Given the description of an element on the screen output the (x, y) to click on. 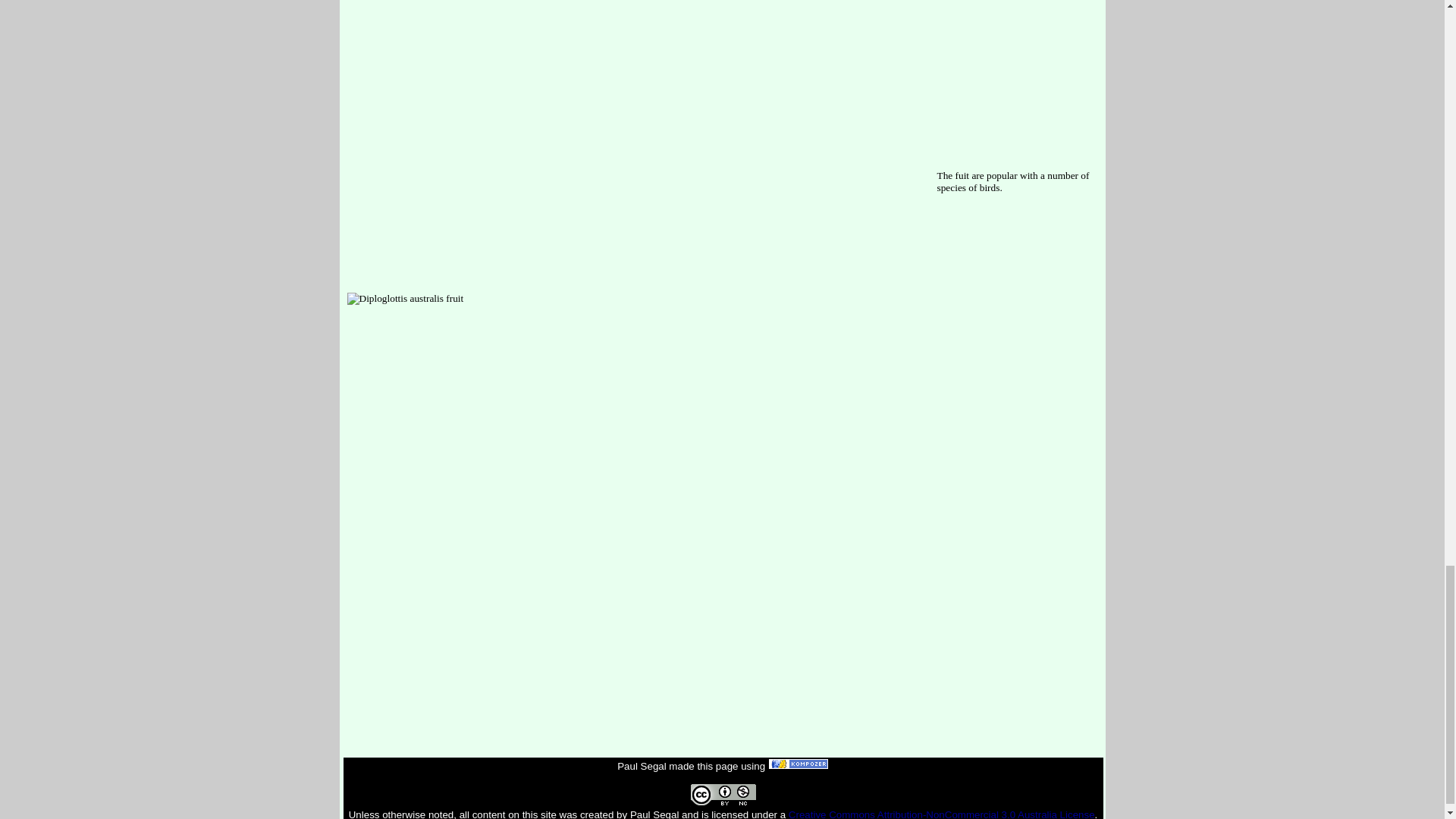
Document made with KompoZer (798, 766)
